Given the description of an element on the screen output the (x, y) to click on. 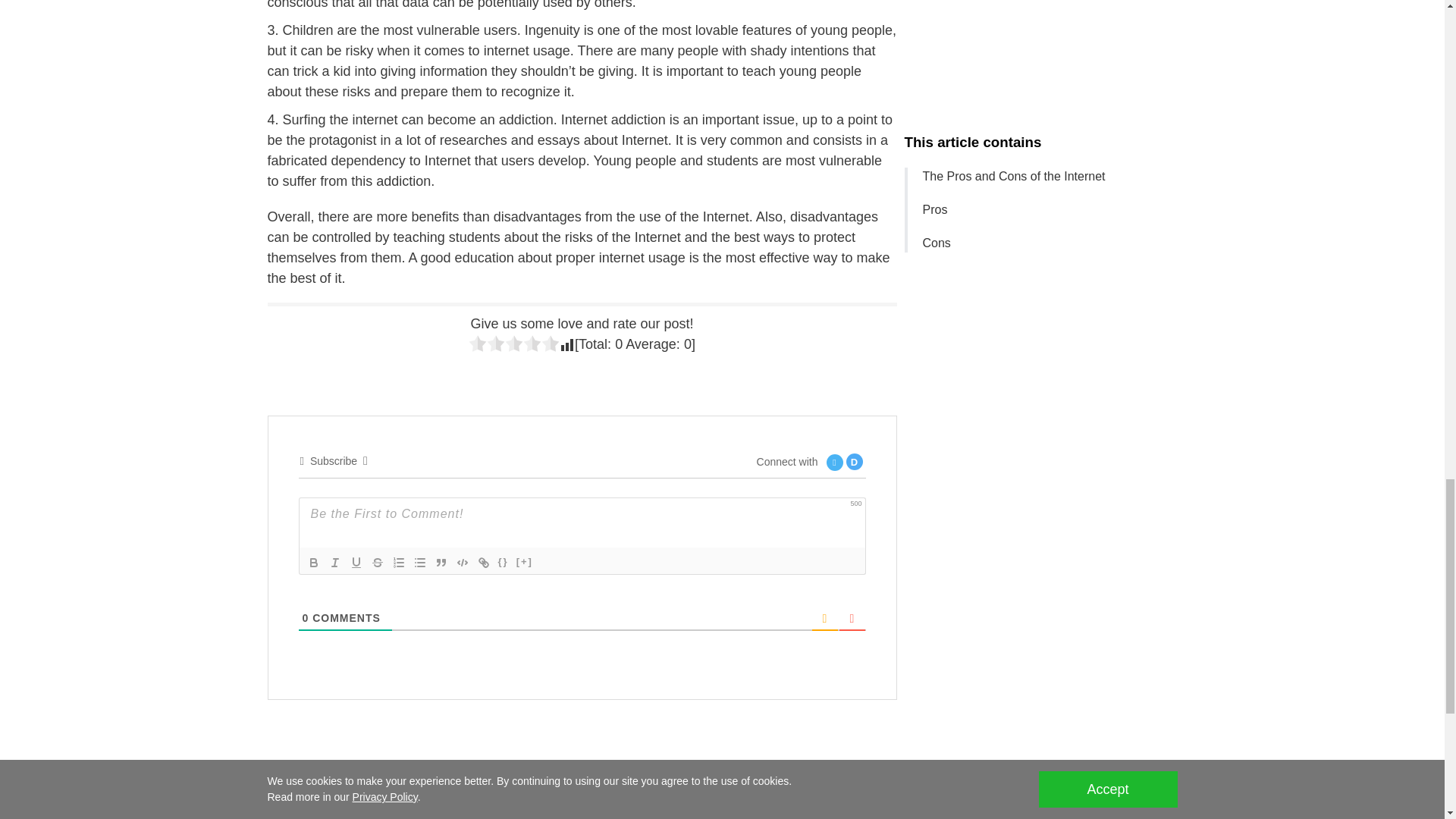
Unordered List (419, 562)
Code Block (462, 562)
Underline (356, 562)
Blockquote (440, 562)
Link (484, 562)
Ordered List (398, 562)
Italic (335, 562)
Spoiler (524, 562)
Source Code (503, 562)
Strike (377, 562)
